Given the description of an element on the screen output the (x, y) to click on. 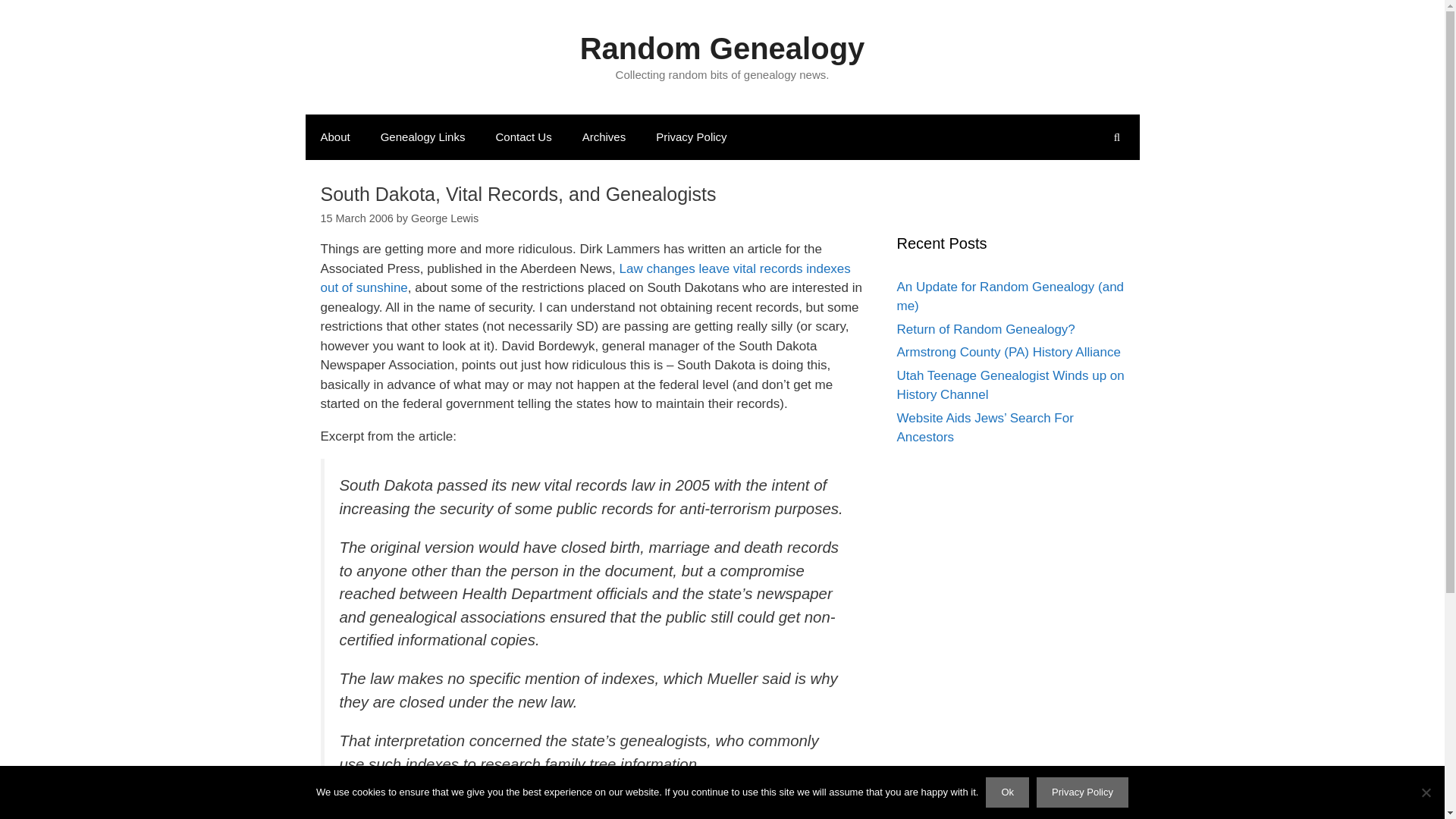
About (334, 135)
Archives (604, 135)
Ok (1007, 792)
Random Genealogy (721, 48)
Utah Teenage Genealogist Winds up on History Channel (1010, 385)
View all posts by George Lewis (444, 218)
No (1425, 792)
Contact Us (523, 135)
Privacy Policy (1082, 792)
Return of Random Genealogy? (985, 328)
George Lewis (444, 218)
Privacy Policy (690, 135)
Law changes leave vital records indexes out of sunshine (585, 278)
Genealogy Links (422, 135)
